Given the description of an element on the screen output the (x, y) to click on. 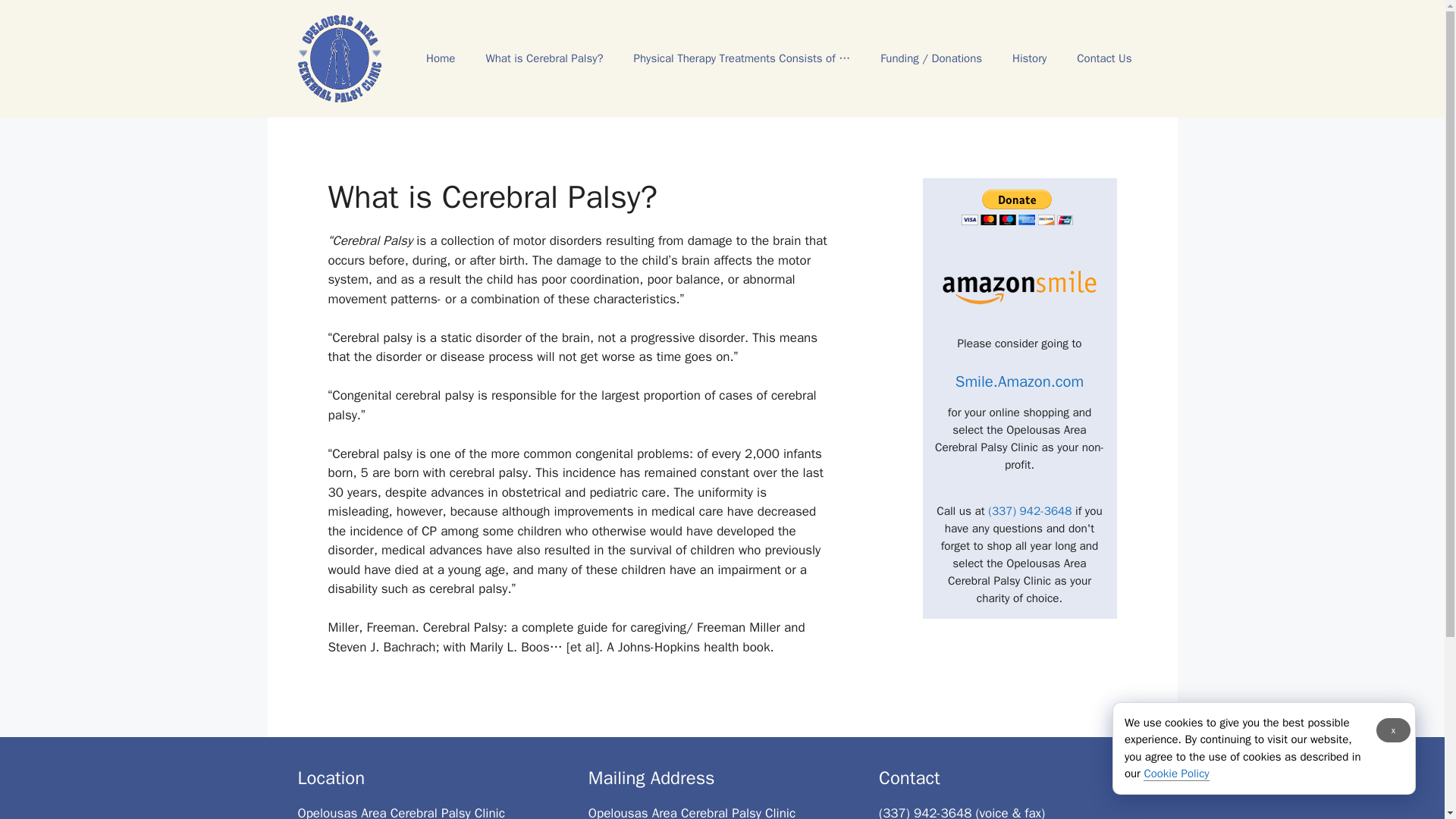
Smile.Amazon.com (1019, 381)
What is Cerebral Palsy? (543, 58)
Contact Us (1104, 58)
Cookie Policy (1175, 773)
History (1029, 58)
x (1392, 730)
Home (440, 58)
